Given the description of an element on the screen output the (x, y) to click on. 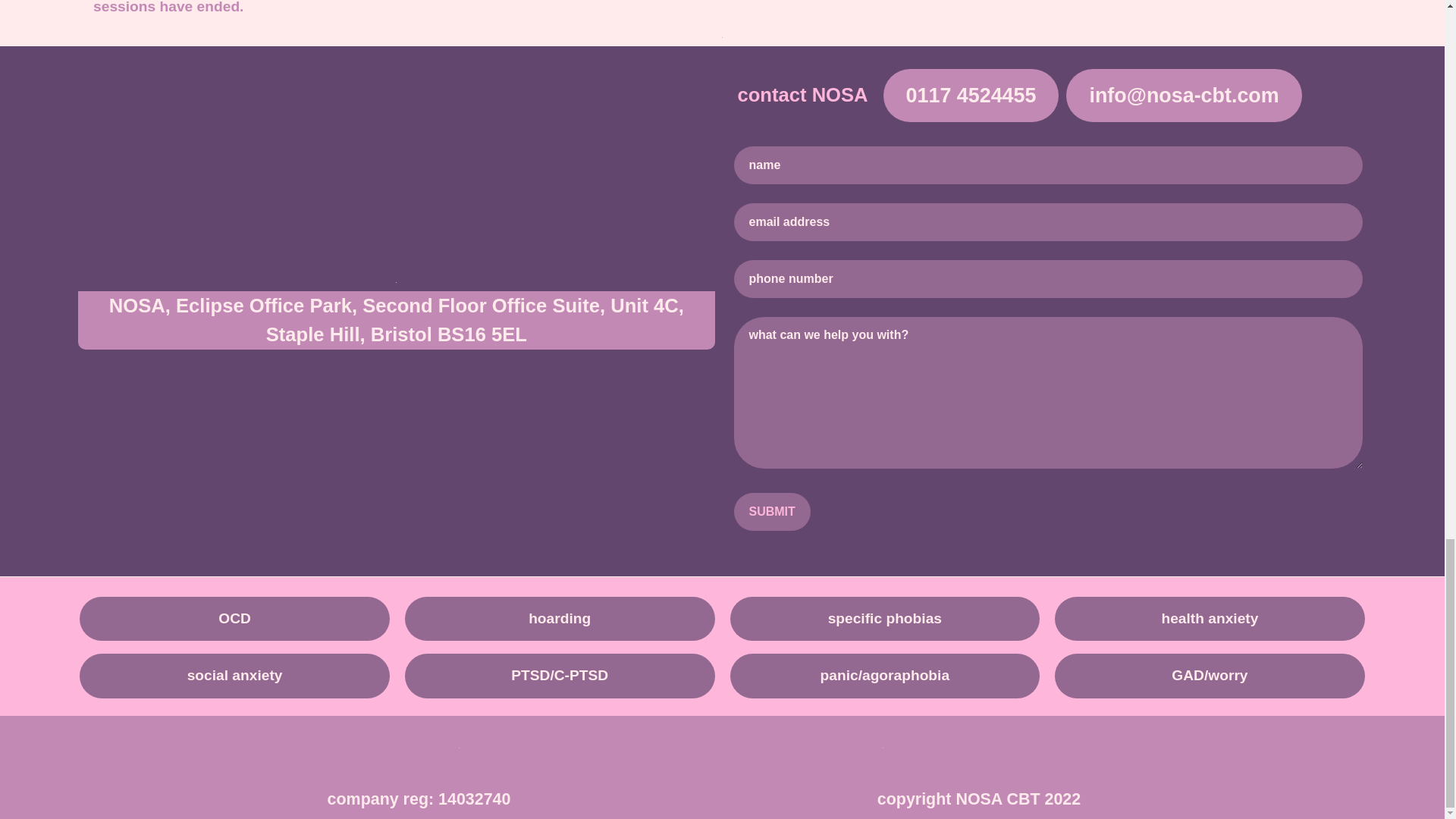
Submit (771, 511)
specific phobias (884, 619)
Submit (771, 511)
social anxiety (235, 675)
OCD (235, 619)
health anxiety (1209, 619)
0117 4524455 (971, 95)
hoarding (559, 619)
